Given the description of an element on the screen output the (x, y) to click on. 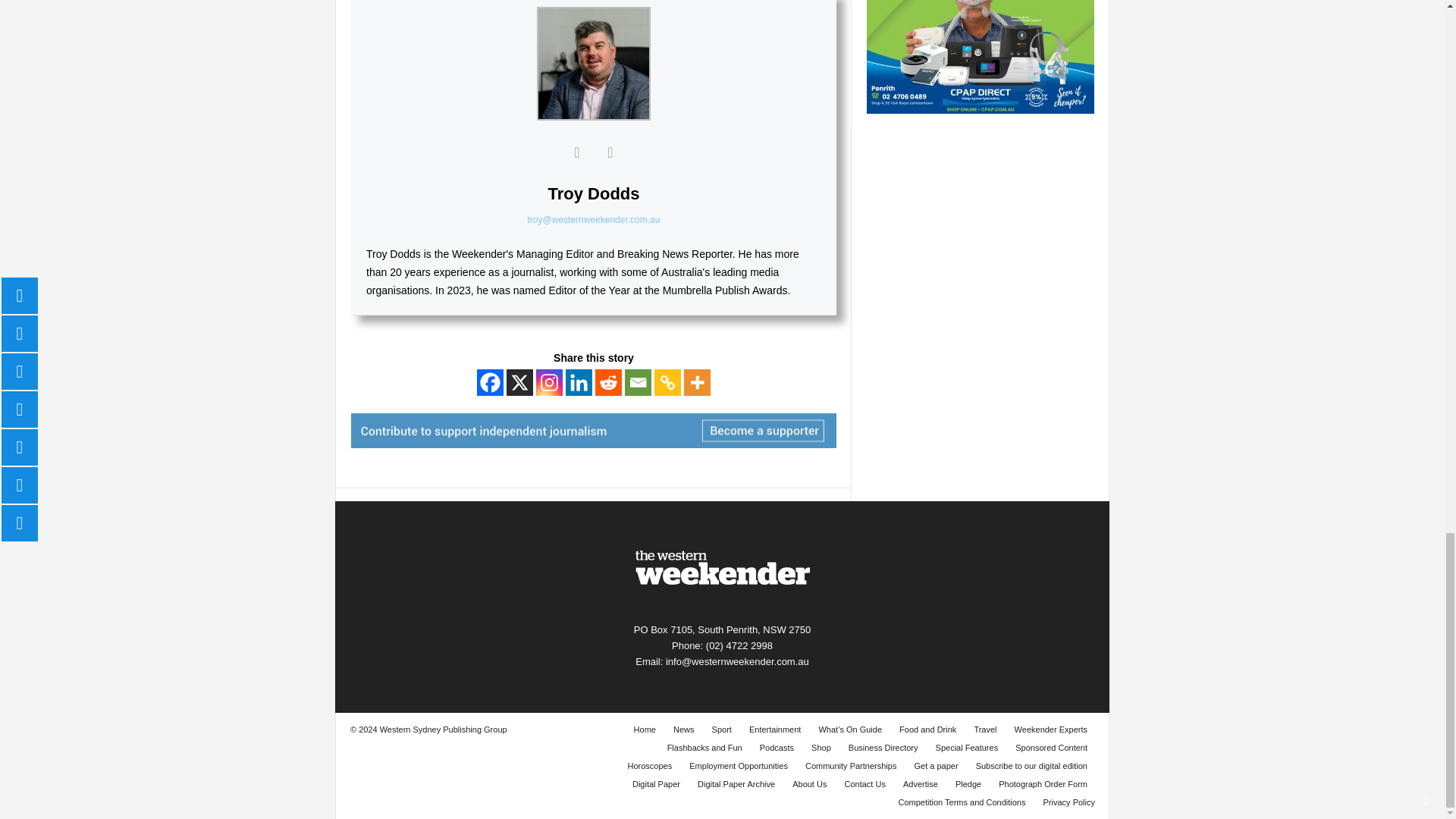
Facebook (490, 382)
X (519, 382)
